Given the description of an element on the screen output the (x, y) to click on. 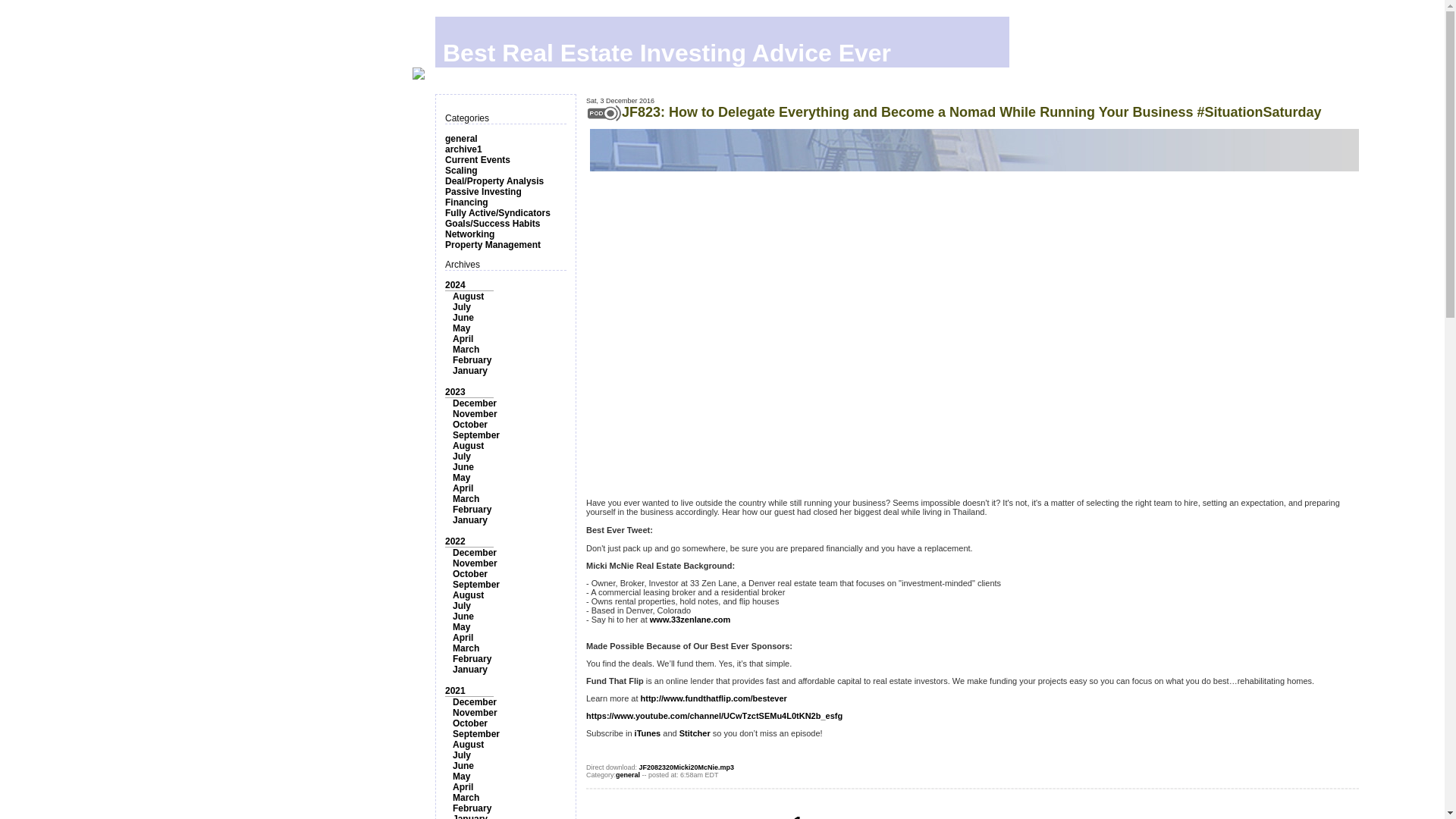
Scaling (461, 170)
2023 (455, 391)
April (462, 488)
March (465, 498)
February (472, 359)
July (461, 456)
June (463, 466)
November (474, 562)
July (461, 307)
October (469, 573)
December (474, 403)
June (463, 317)
2024 (455, 285)
August (467, 594)
December (474, 552)
